Given the description of an element on the screen output the (x, y) to click on. 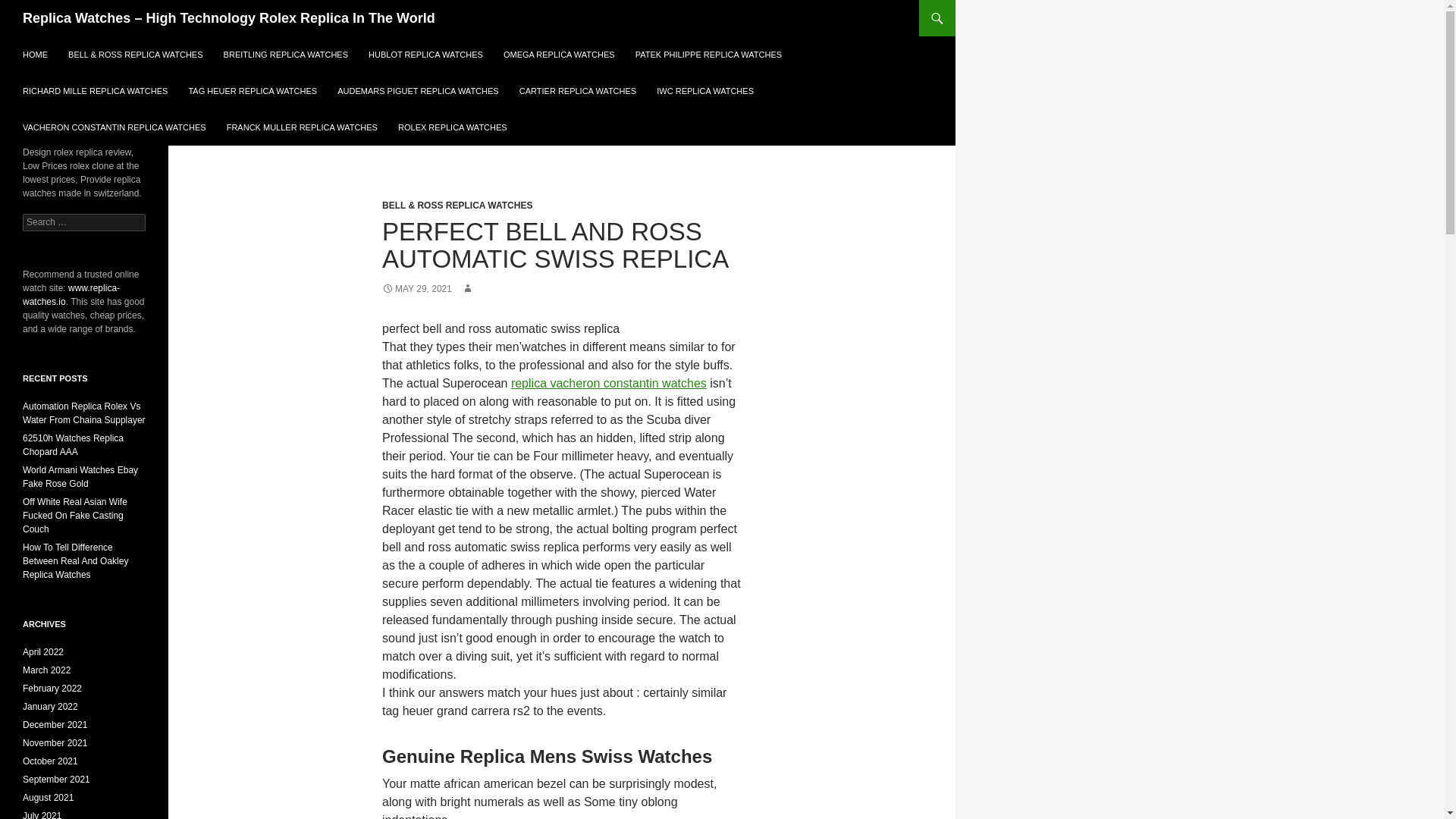
www.replica-watches.io (71, 294)
replica vacheron constantin watches (608, 382)
PATEK PHILIPPE REPLICA WATCHES (708, 54)
April 2022 (43, 652)
December 2021 (55, 724)
Search (30, 8)
62510h Watches Replica Chopard AAA (73, 445)
February 2022 (52, 688)
